Given the description of an element on the screen output the (x, y) to click on. 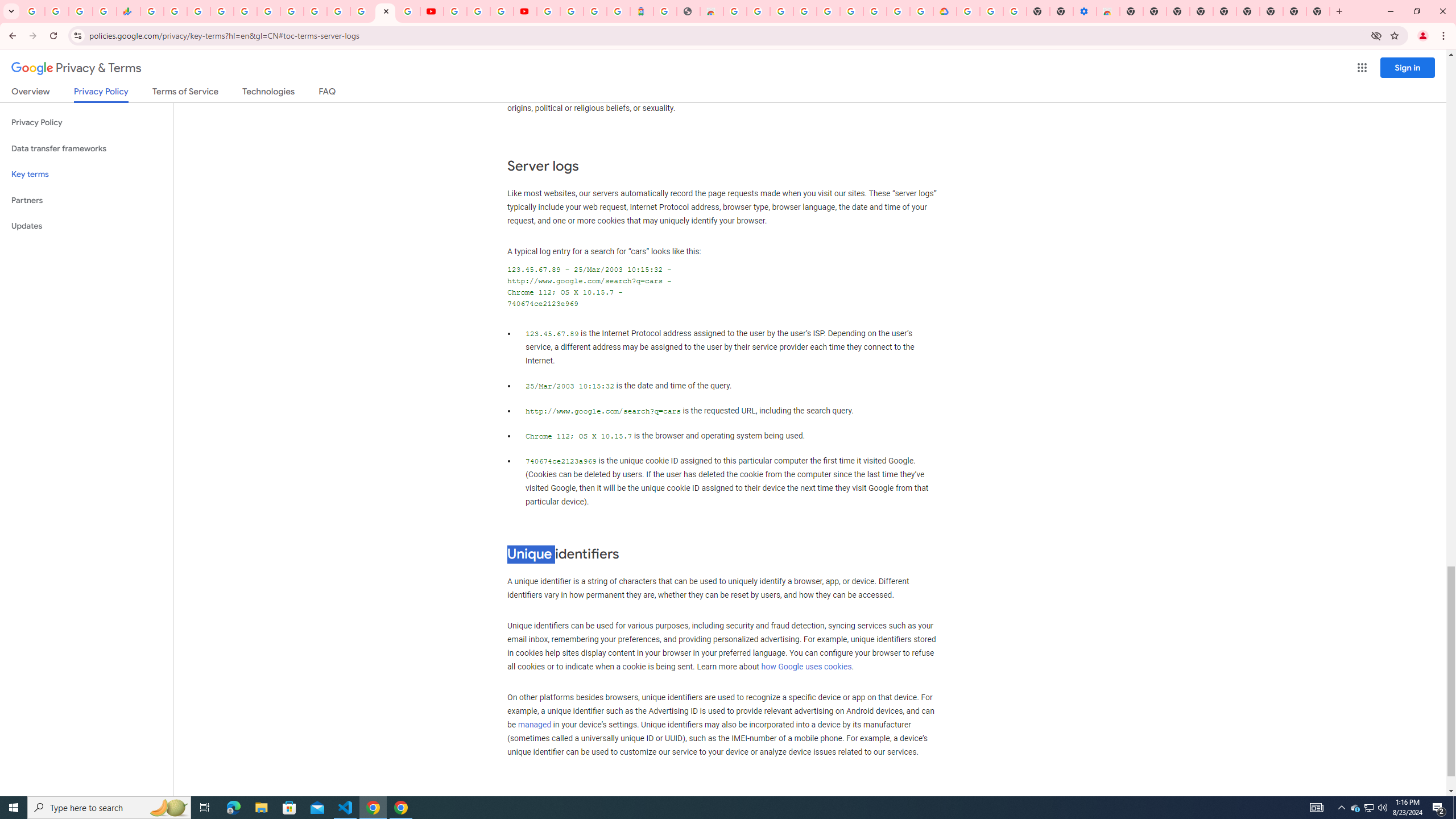
Create your Google Account (757, 11)
Content Creator Programs & Opportunities - YouTube Creators (524, 11)
Settings - Accessibility (1085, 11)
Google Workspace Admin Community (32, 11)
Android TV Policies and Guidelines - Transparency Center (291, 11)
Create your Google Account (501, 11)
Sign in - Google Accounts (571, 11)
Sign in - Google Accounts (827, 11)
